Given the description of an element on the screen output the (x, y) to click on. 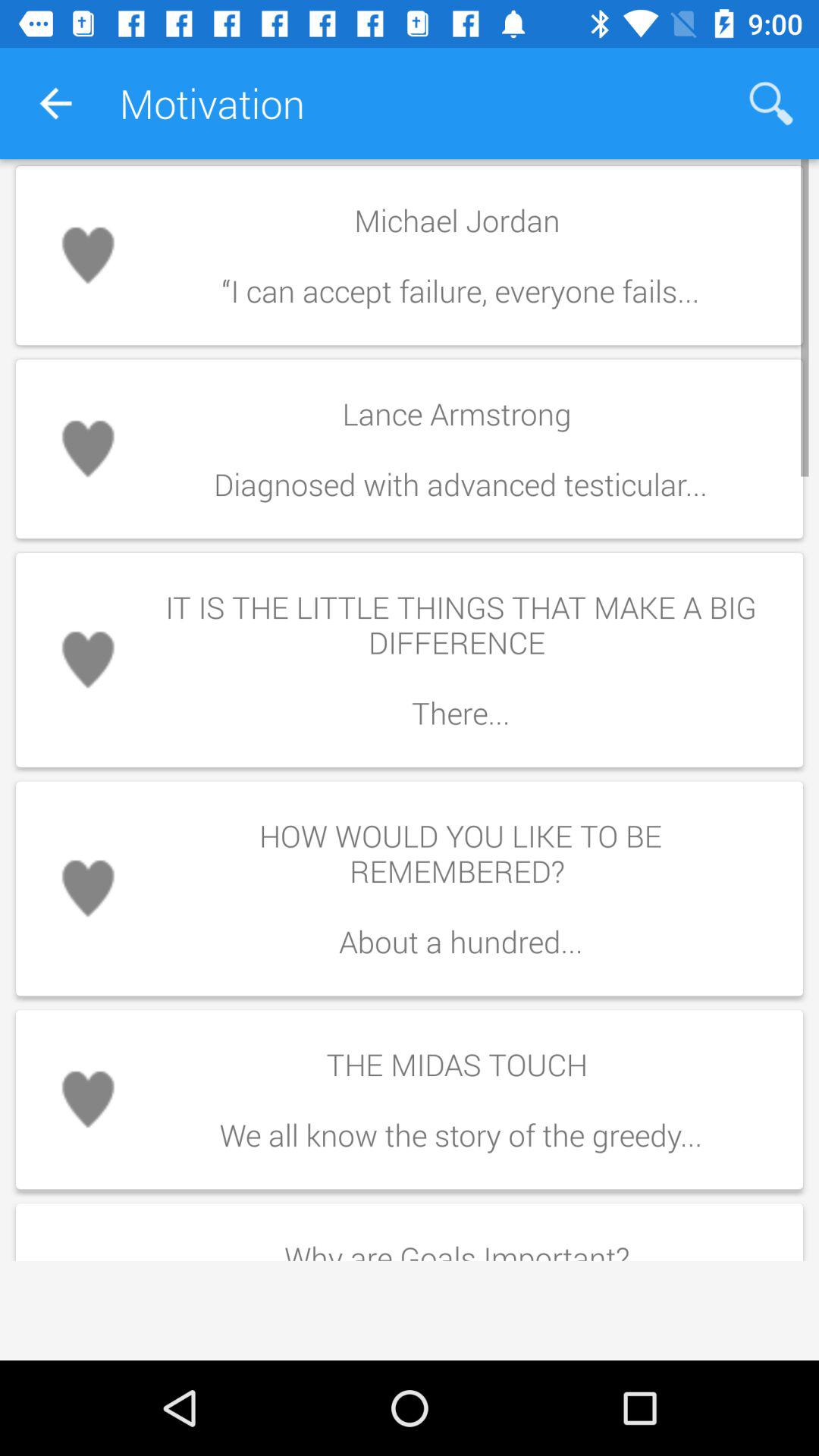
turn off icon above the it is the (460, 448)
